Given the description of an element on the screen output the (x, y) to click on. 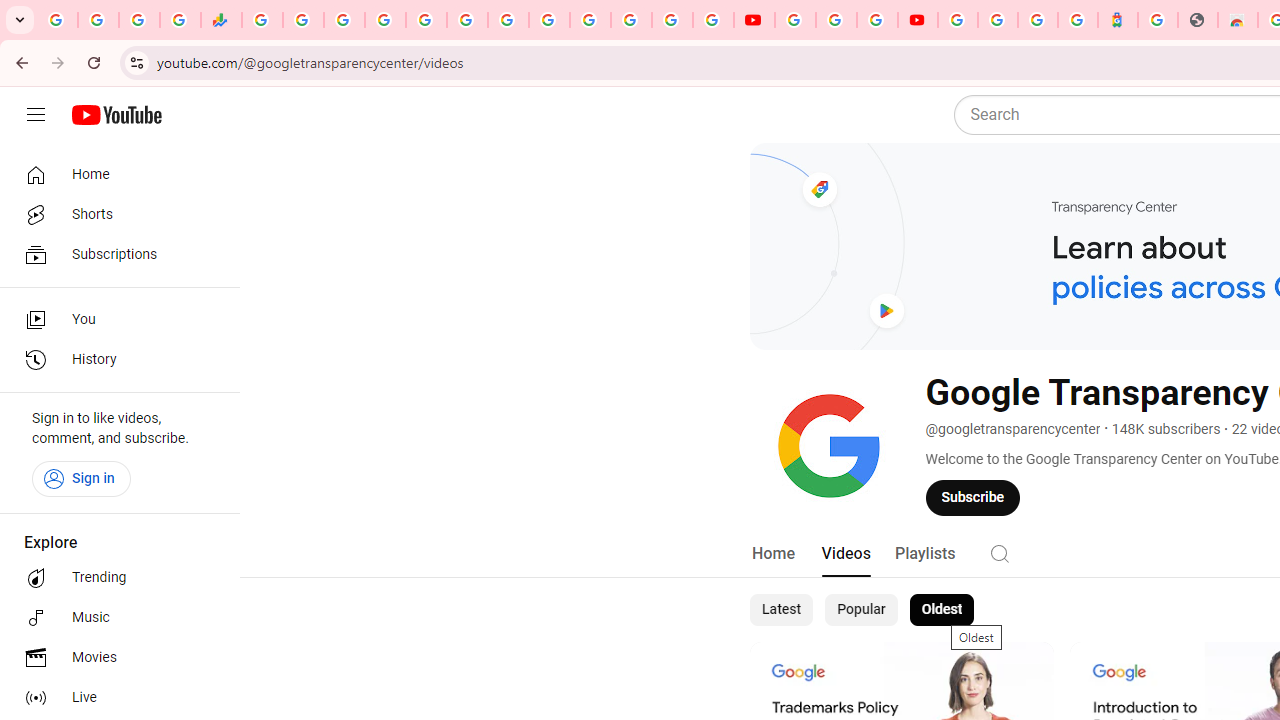
Home (113, 174)
Sign in - Google Accounts (997, 20)
Google Workspace Admin Community (57, 20)
Trending (113, 578)
Privacy Checkup (712, 20)
YouTube (753, 20)
